Given the description of an element on the screen output the (x, y) to click on. 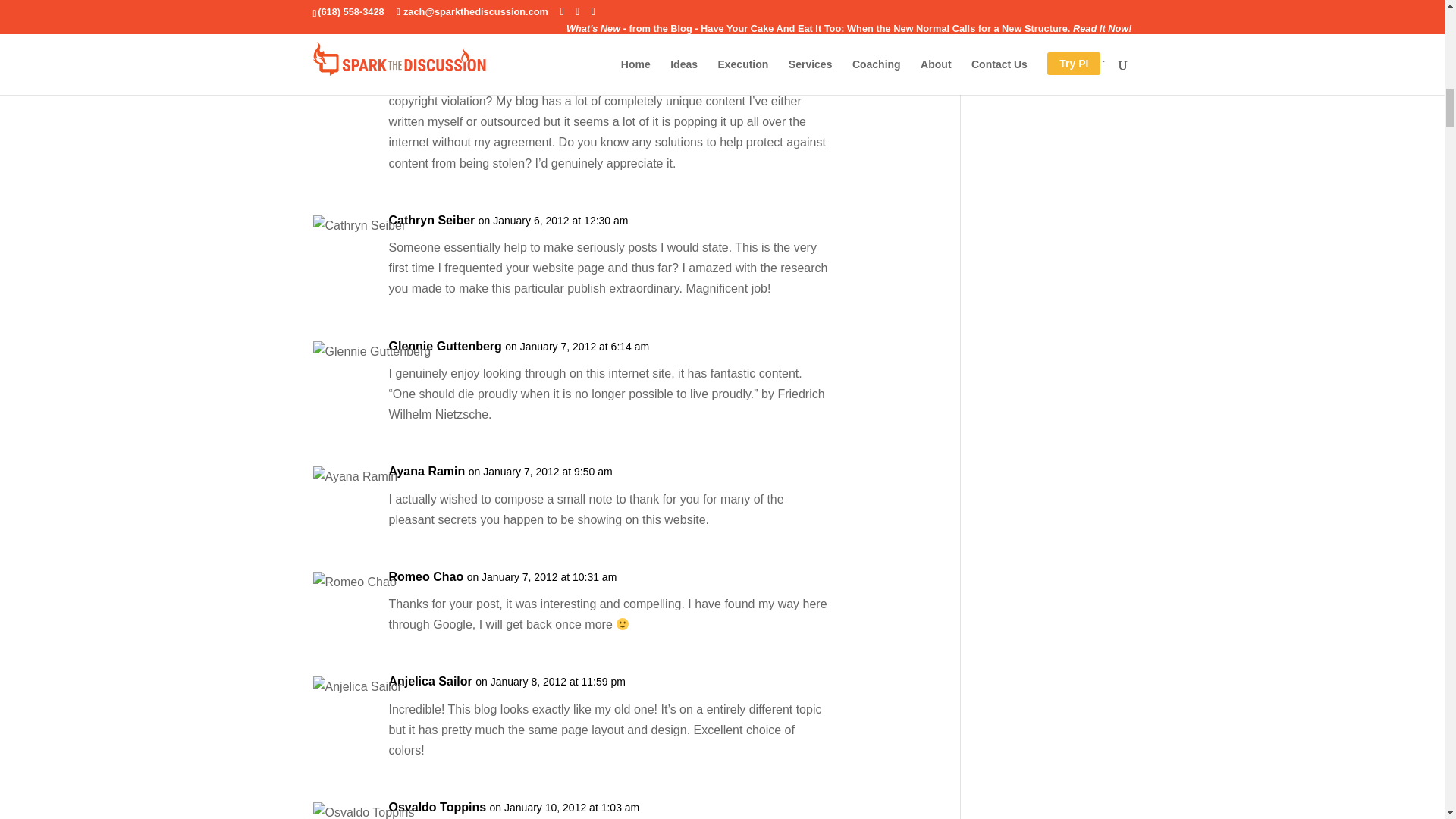
Osvaldo Toppins (437, 806)
Romeo Chao (425, 576)
Anjelica Sailor (429, 680)
Joe Klaiber (420, 53)
Cathryn Seiber (431, 219)
Ayana Ramin (426, 471)
Glennie Guttenberg (444, 345)
